Given the description of an element on the screen output the (x, y) to click on. 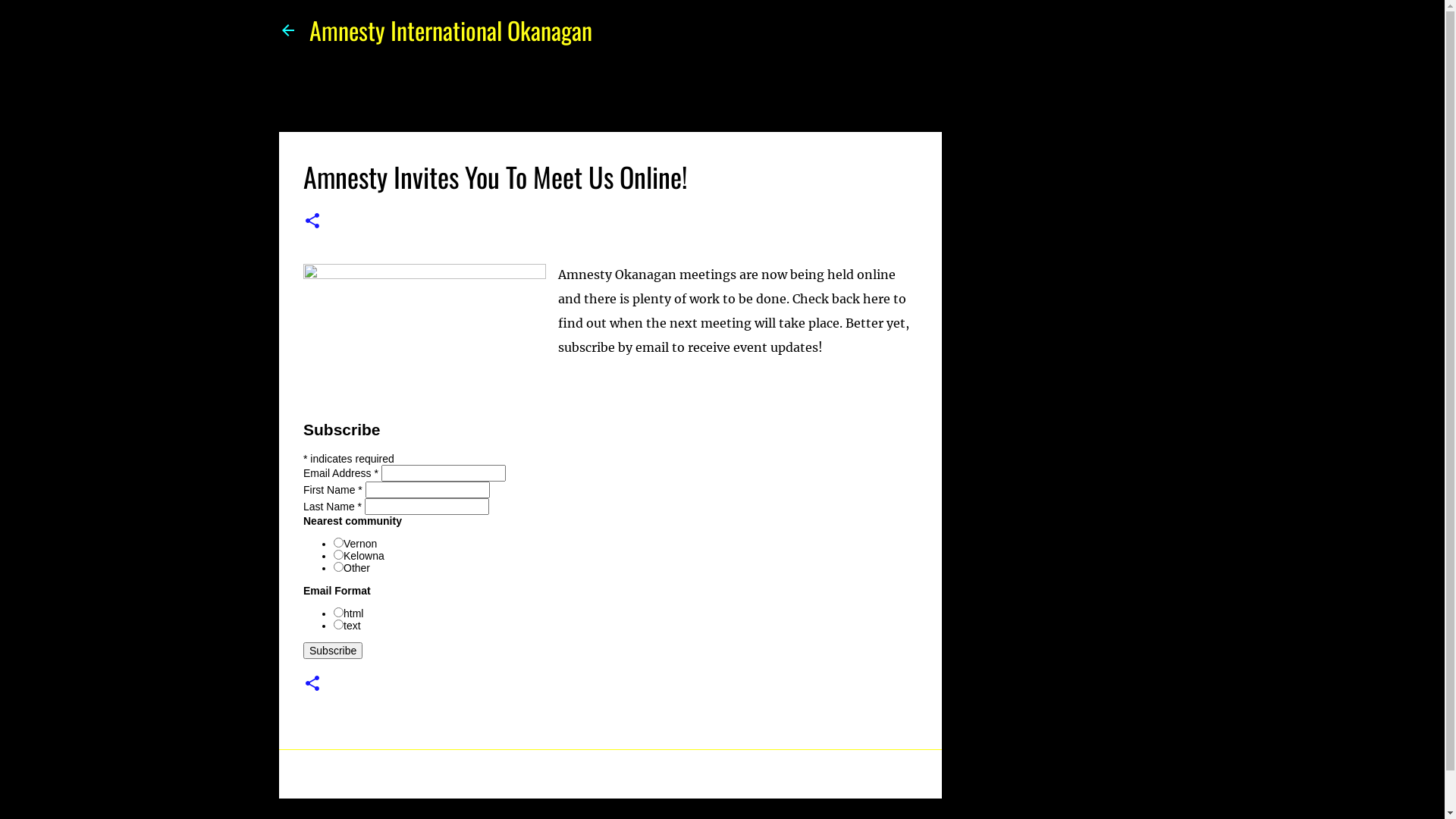
Amnesty International Okanagan Element type: text (450, 29)
Subscribe Element type: text (332, 650)
